Given the description of an element on the screen output the (x, y) to click on. 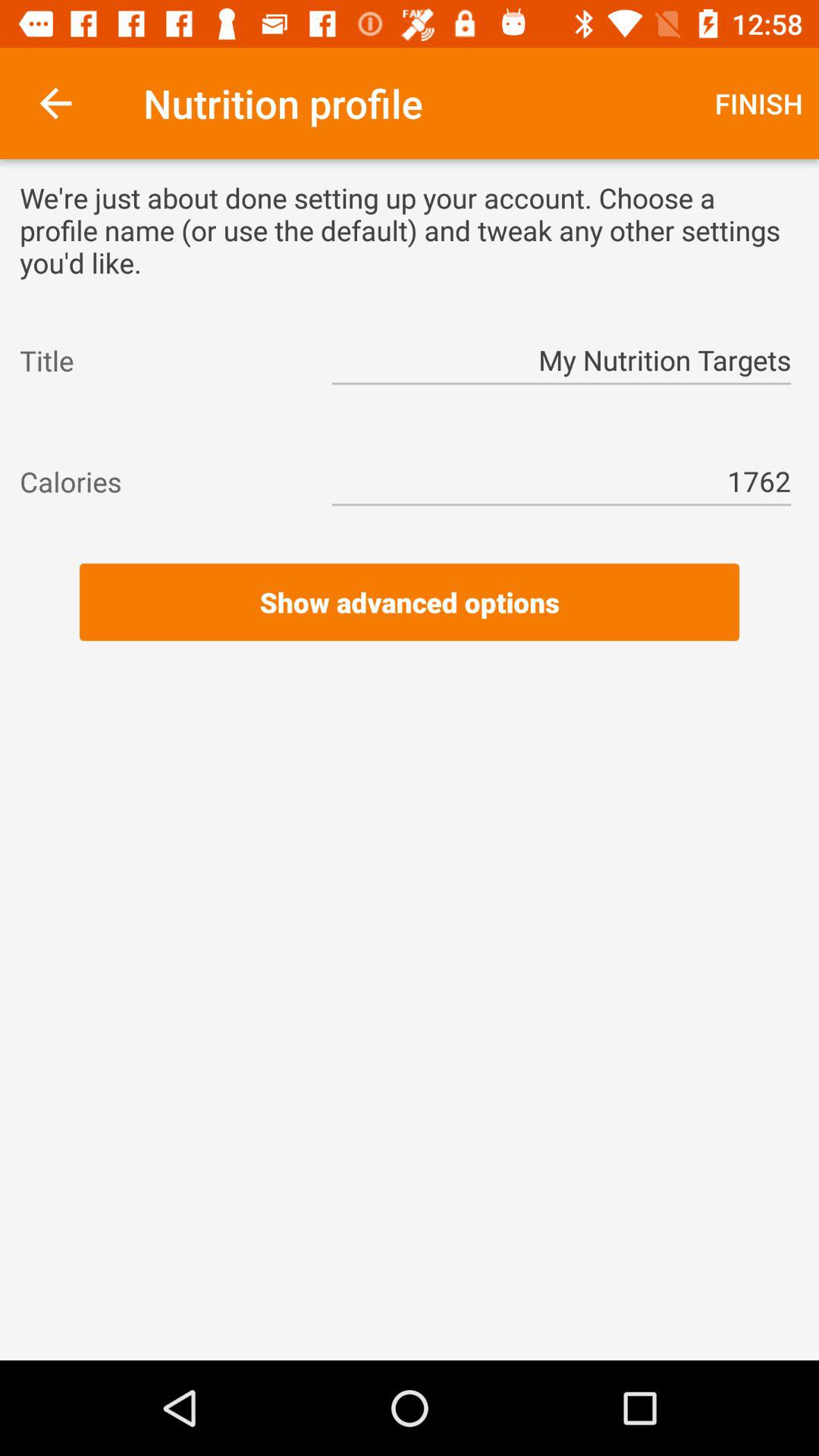
press icon to the left of nutrition profile icon (55, 103)
